Given the description of an element on the screen output the (x, y) to click on. 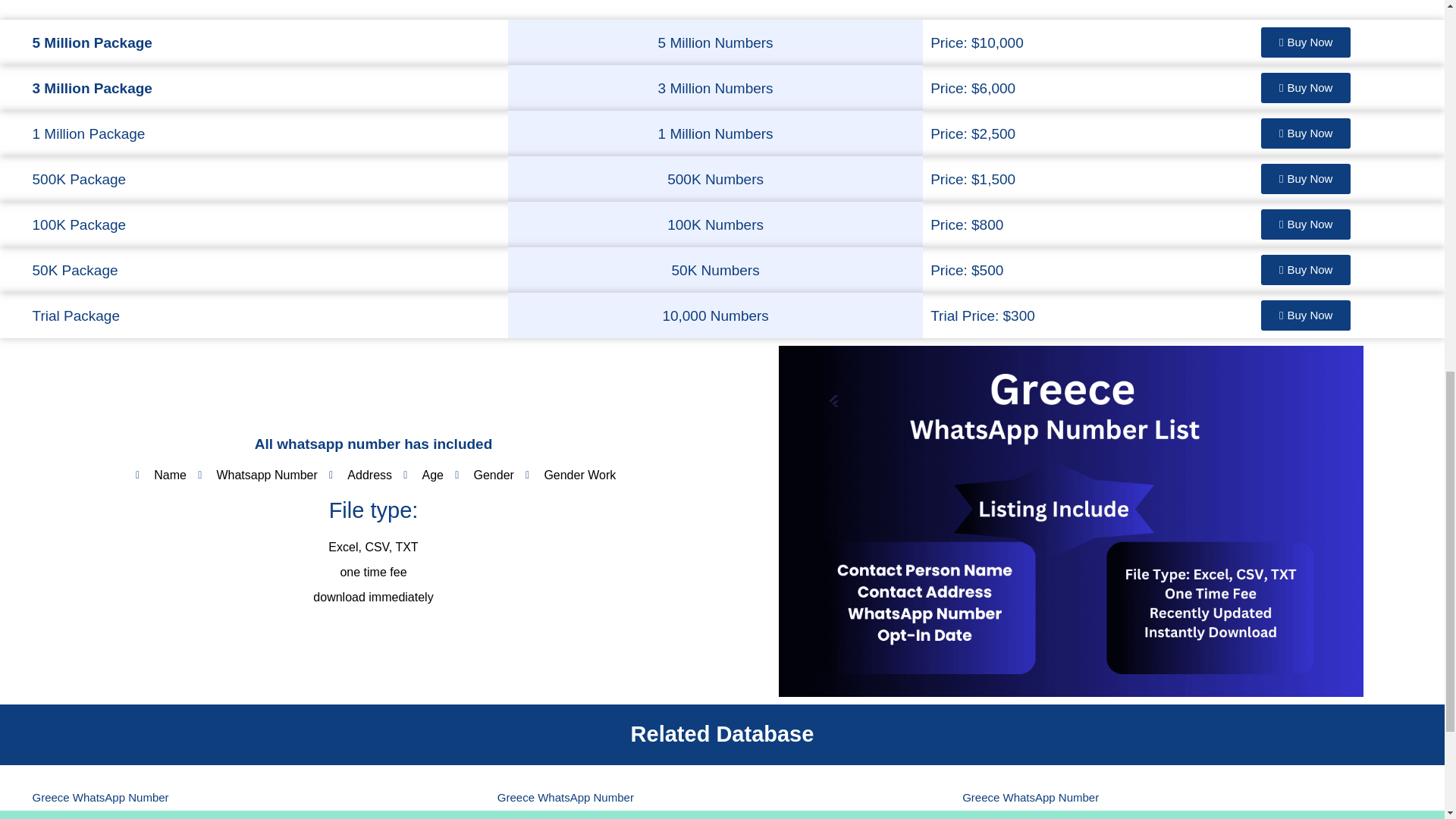
Buy Now (1305, 87)
Greece WhatsApp Number (1030, 797)
Greece WhatsApp Number (100, 797)
Greece WhatsApp Number (565, 797)
Buy Now (1305, 178)
Buy Now (1305, 132)
Buy Now (1305, 224)
Buy Now (1305, 269)
Buy Now (1305, 42)
Buy Now (1305, 315)
